Given the description of an element on the screen output the (x, y) to click on. 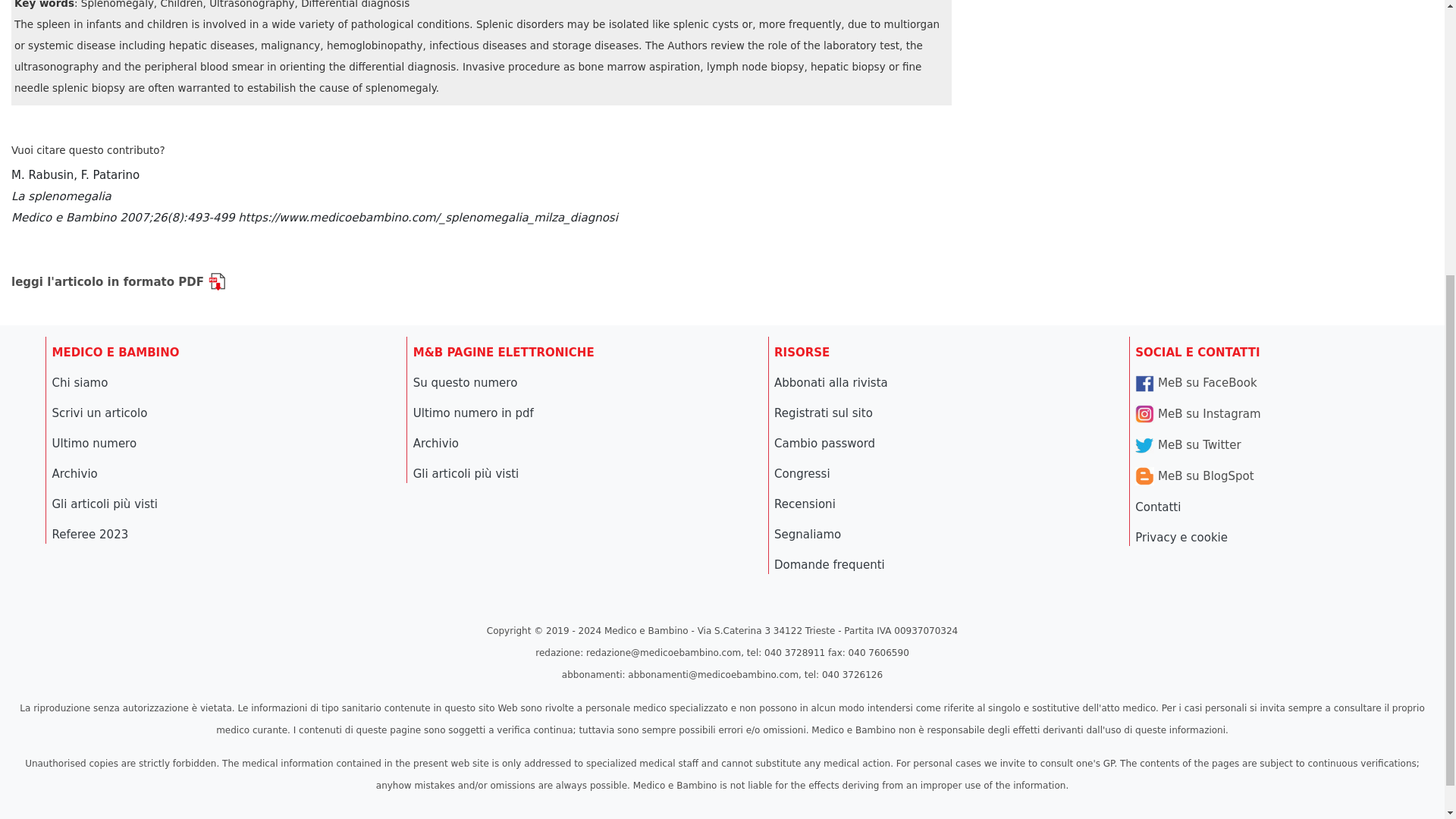
Segnaliamo (807, 534)
Congressi (801, 473)
Ultimo numero in pdf (473, 413)
Registrati sul sito (823, 413)
Cambio password (824, 443)
MeB su FaceBook (1195, 382)
Abbonati alla rivista (831, 382)
Domande frequenti (829, 564)
Archivio (73, 473)
Su questo numero (465, 382)
Archivio (435, 443)
leggi l'articolo in formato PDF (118, 282)
La splenomegalia (314, 206)
Chi siamo (78, 382)
Ultimo numero (93, 443)
